Given the description of an element on the screen output the (x, y) to click on. 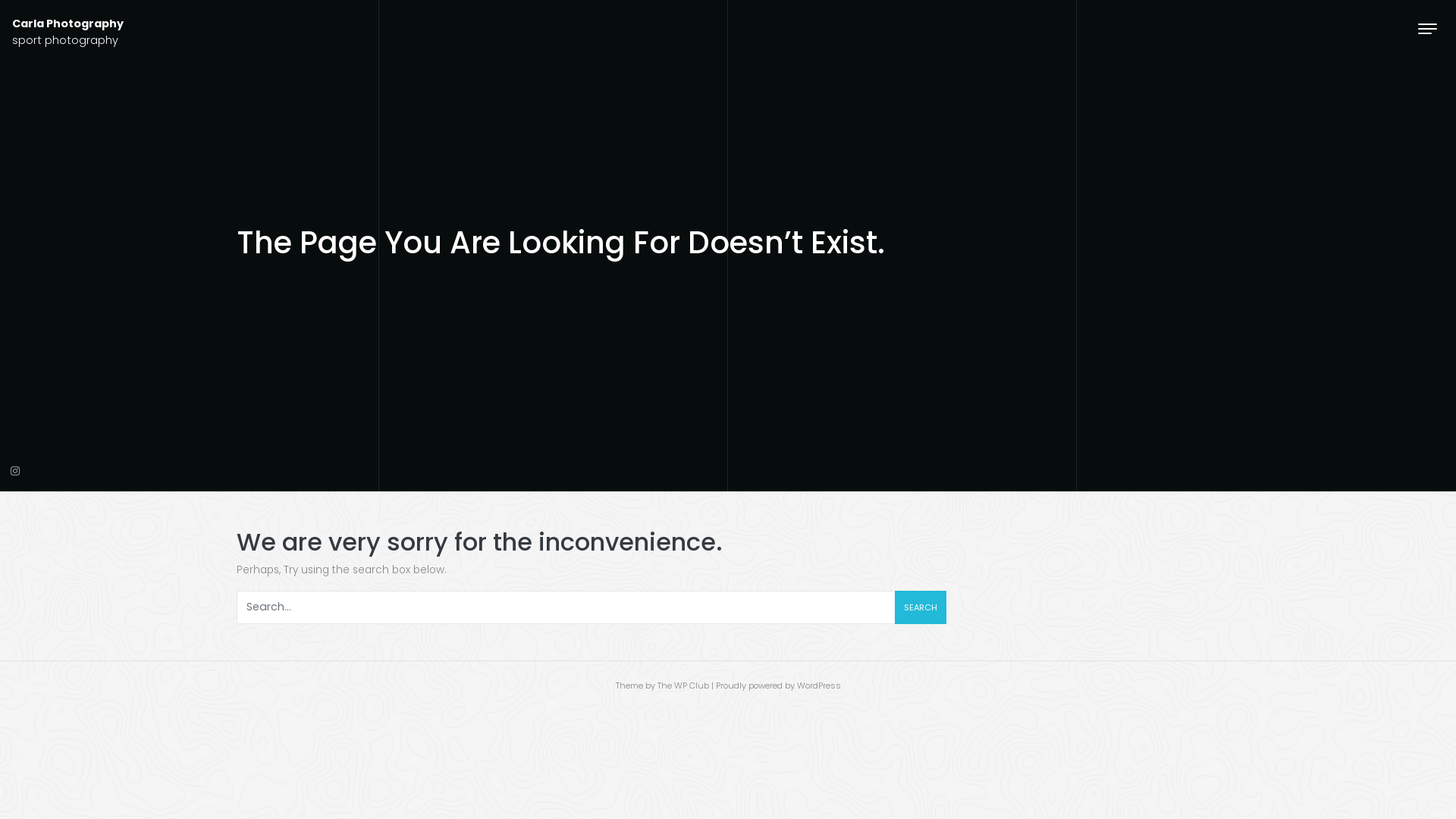
Proudly powered by WordPress Element type: text (777, 685)
Search Element type: text (920, 607)
Carla Photography
sport photography Element type: text (67, 32)
